Given the description of an element on the screen output the (x, y) to click on. 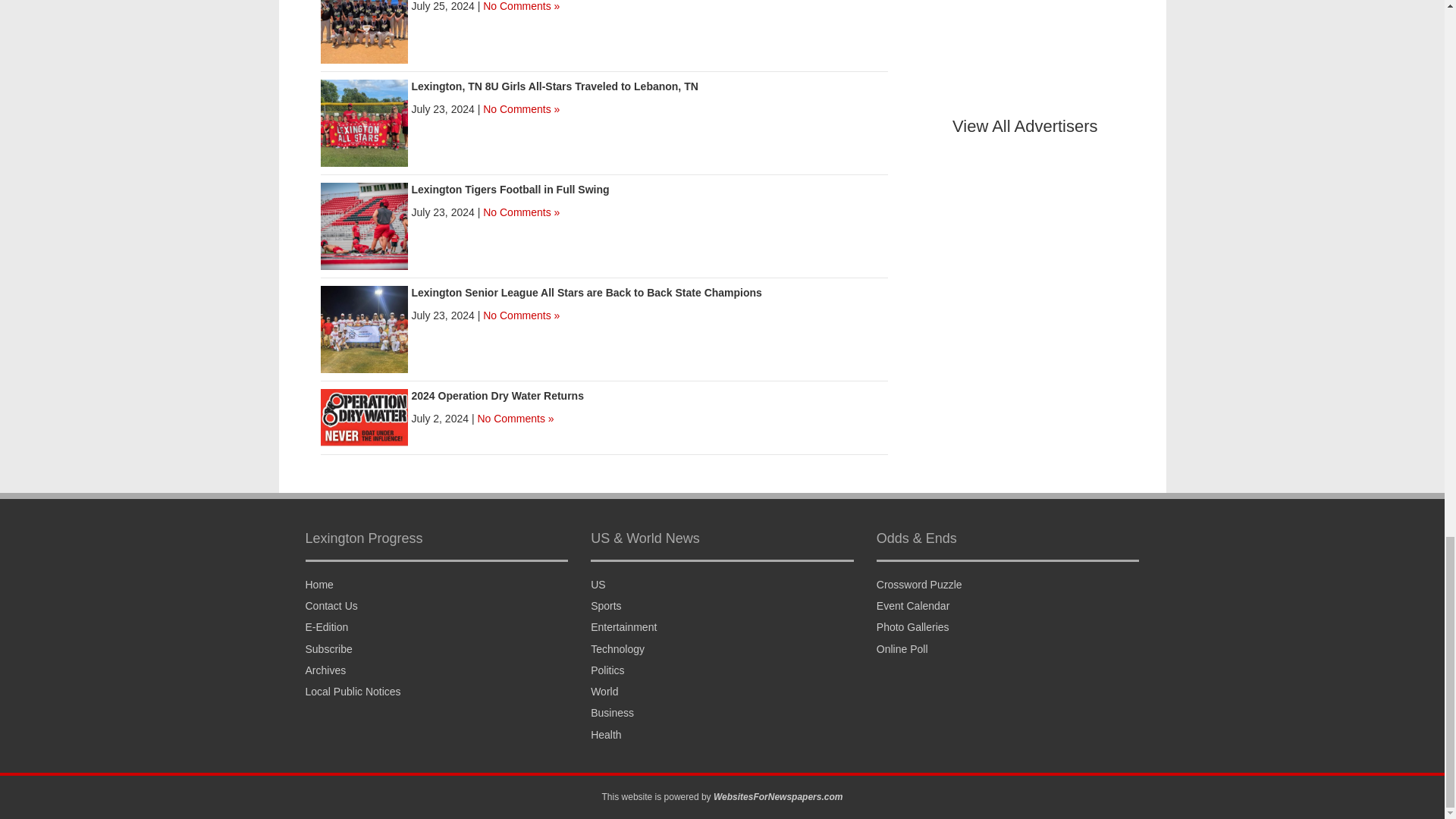
2024 Operation Dry Water Returns (363, 416)
Lexington Tigers Football in Full Swing (509, 189)
Lexington, TN 8U Girls All-Stars Traveled to Lebanon, TN (363, 121)
Lexington, TN 8U Girls All-Stars Traveled to Lebanon, TN (553, 86)
Scotts Hill 14U Dixie Youth Baseball Team World Series Bound (363, 19)
2024 Operation Dry Water Returns (496, 395)
Lexington Tigers Football in Full Swing (363, 224)
